Given the description of an element on the screen output the (x, y) to click on. 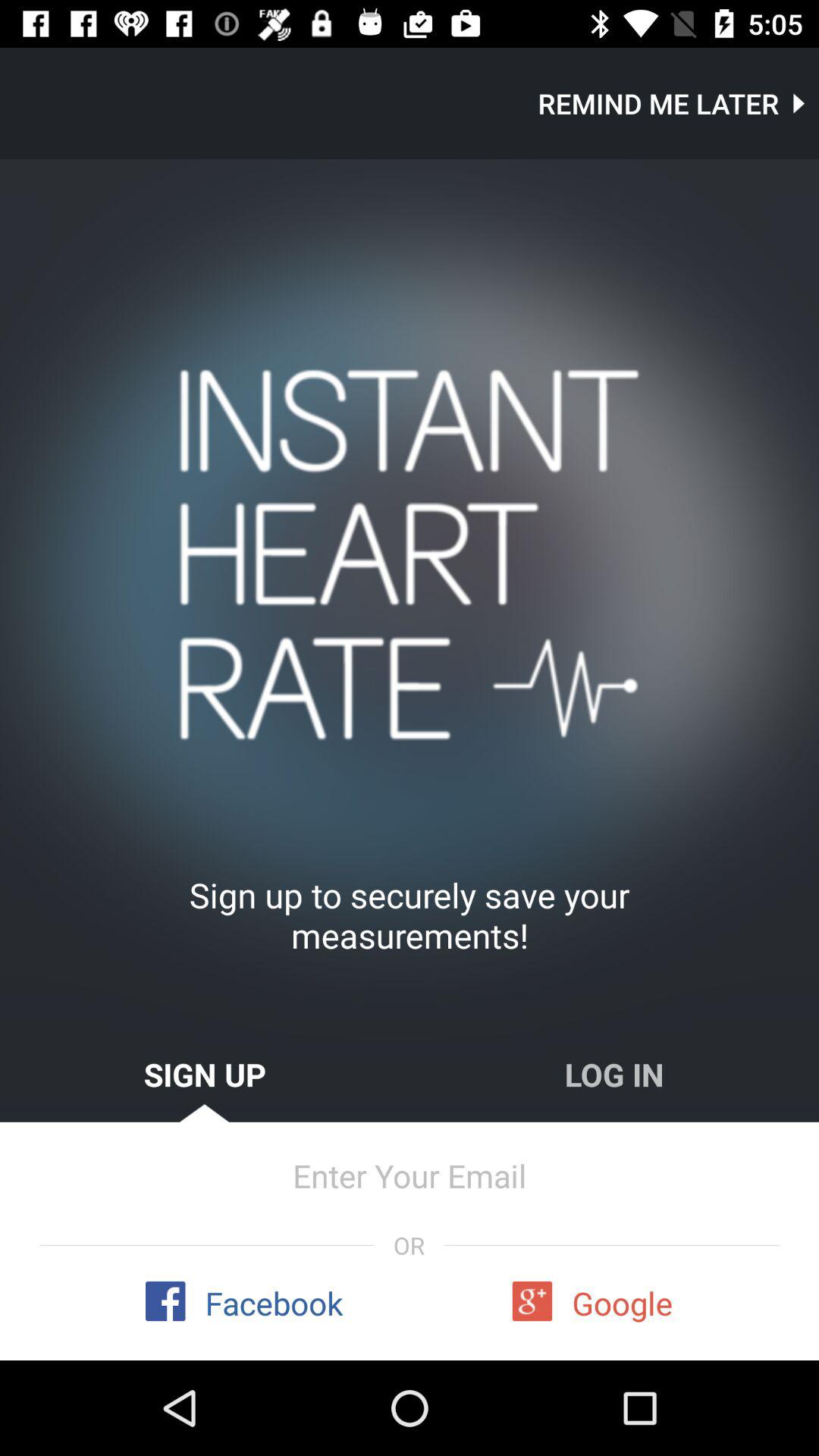
turn on log in icon (614, 1074)
